Given the description of an element on the screen output the (x, y) to click on. 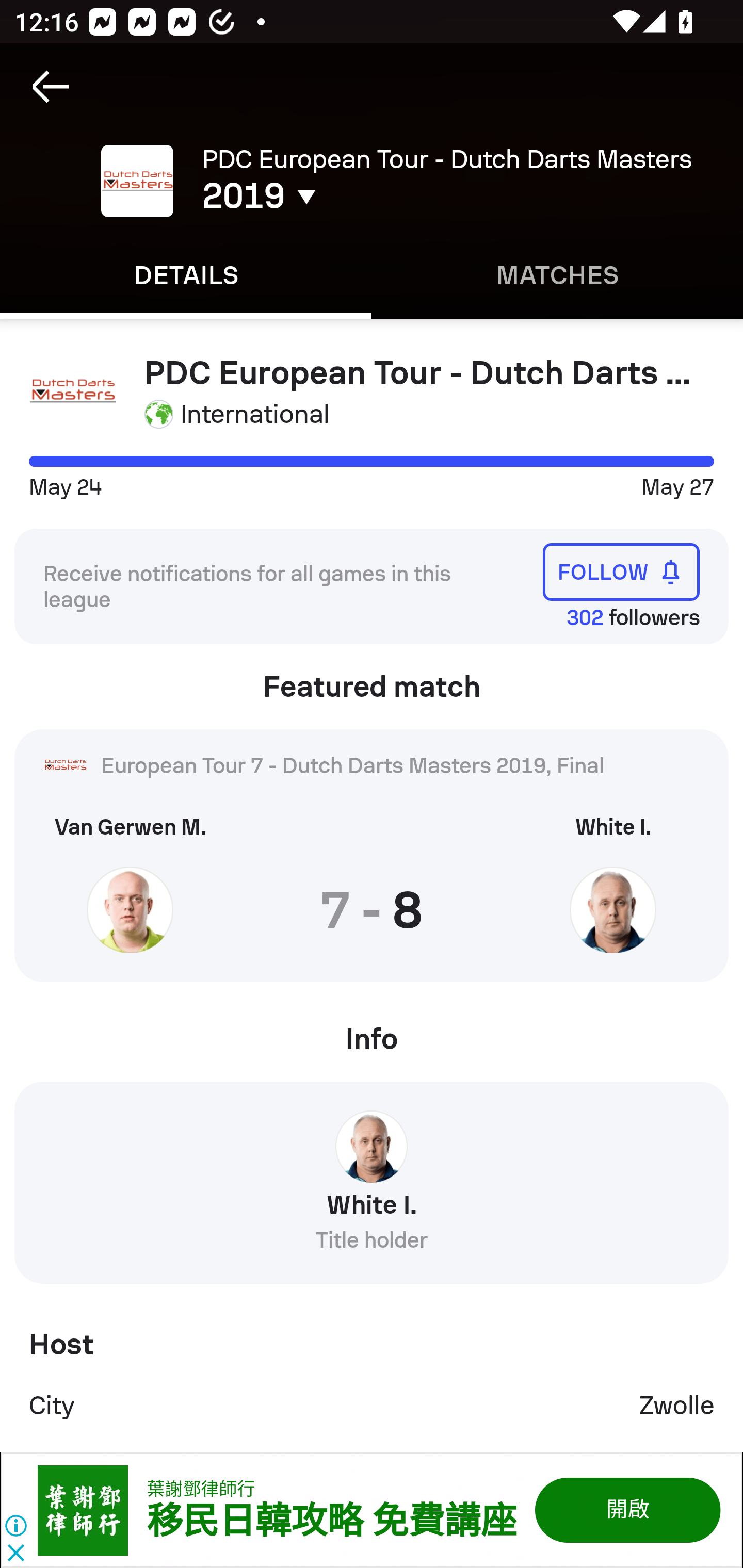
Navigate up (50, 86)
2019 (350, 195)
Matches MATCHES (557, 275)
FOLLOW (621, 571)
White I. Title holder (371, 1190)
葉謝鄧律師行 (200, 1488)
開啟 (626, 1509)
移民日韓攻略 免費講座 (330, 1521)
